Given the description of an element on the screen output the (x, y) to click on. 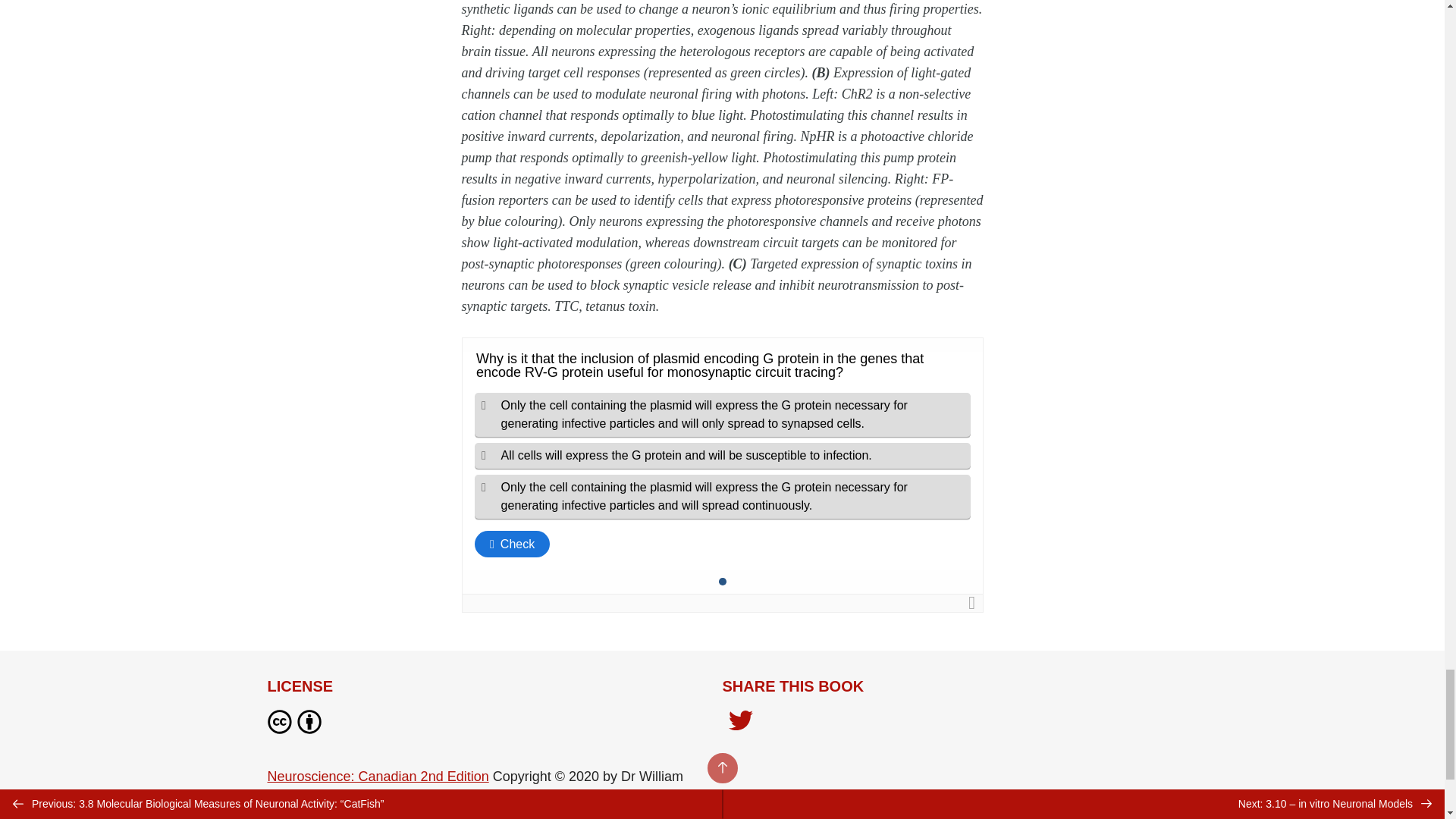
Share on Twitter (740, 721)
